Given the description of an element on the screen output the (x, y) to click on. 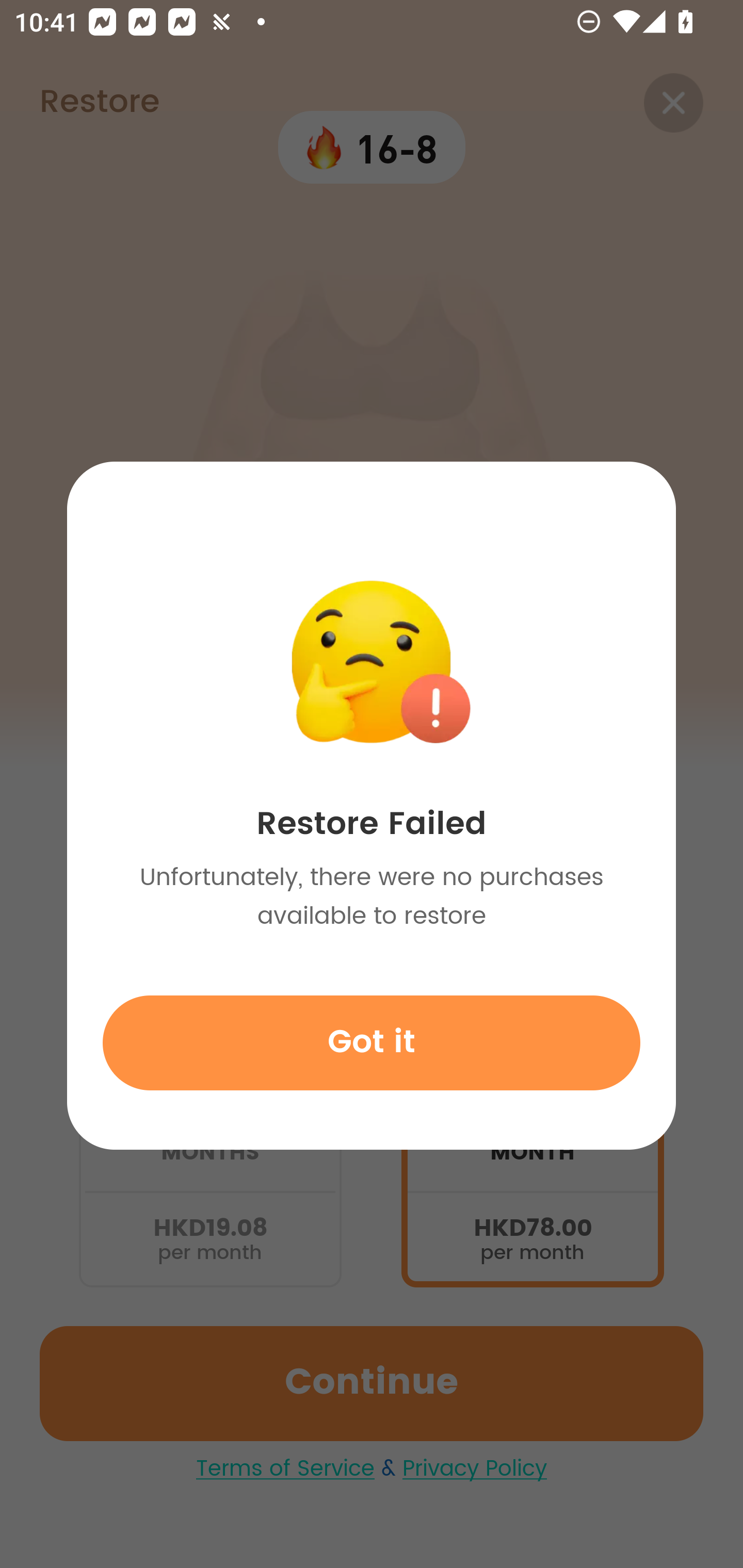
Got it (371, 1042)
